Given the description of an element on the screen output the (x, y) to click on. 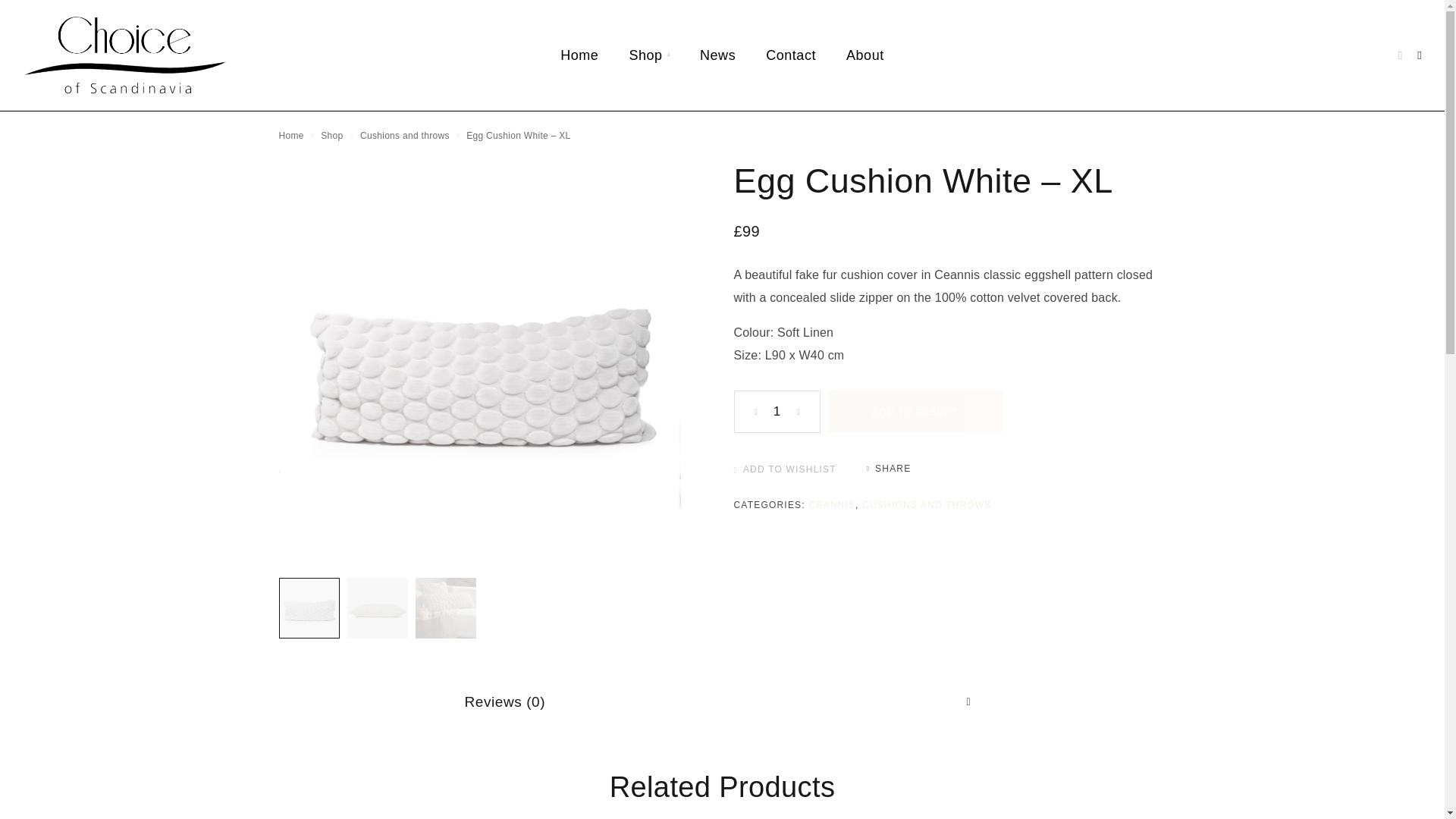
Qty (776, 411)
1 (776, 411)
